Given the description of an element on the screen output the (x, y) to click on. 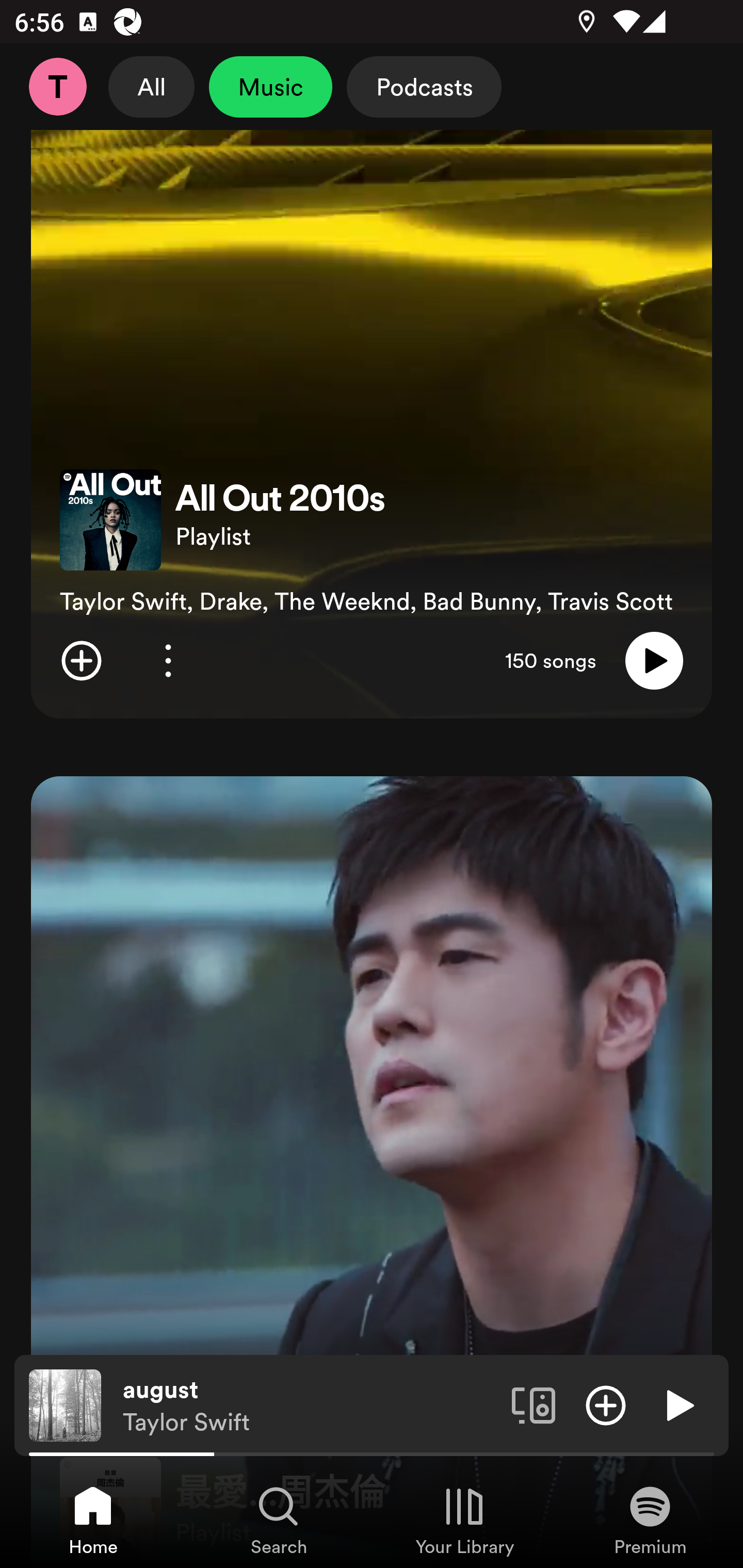
Profile (57, 86)
All Select All (151, 86)
Music Unselect Music (270, 86)
Podcasts Select Podcasts (423, 86)
Add item (80, 660)
Play (653, 660)
august Taylor Swift (309, 1405)
The cover art of the currently playing track (64, 1404)
Connect to a device. Opens the devices menu (533, 1404)
Add item (605, 1404)
Play (677, 1404)
Home, Tab 1 of 4 Home Home (92, 1519)
Search, Tab 2 of 4 Search Search (278, 1519)
Your Library, Tab 3 of 4 Your Library Your Library (464, 1519)
Premium, Tab 4 of 4 Premium Premium (650, 1519)
